Given the description of an element on the screen output the (x, y) to click on. 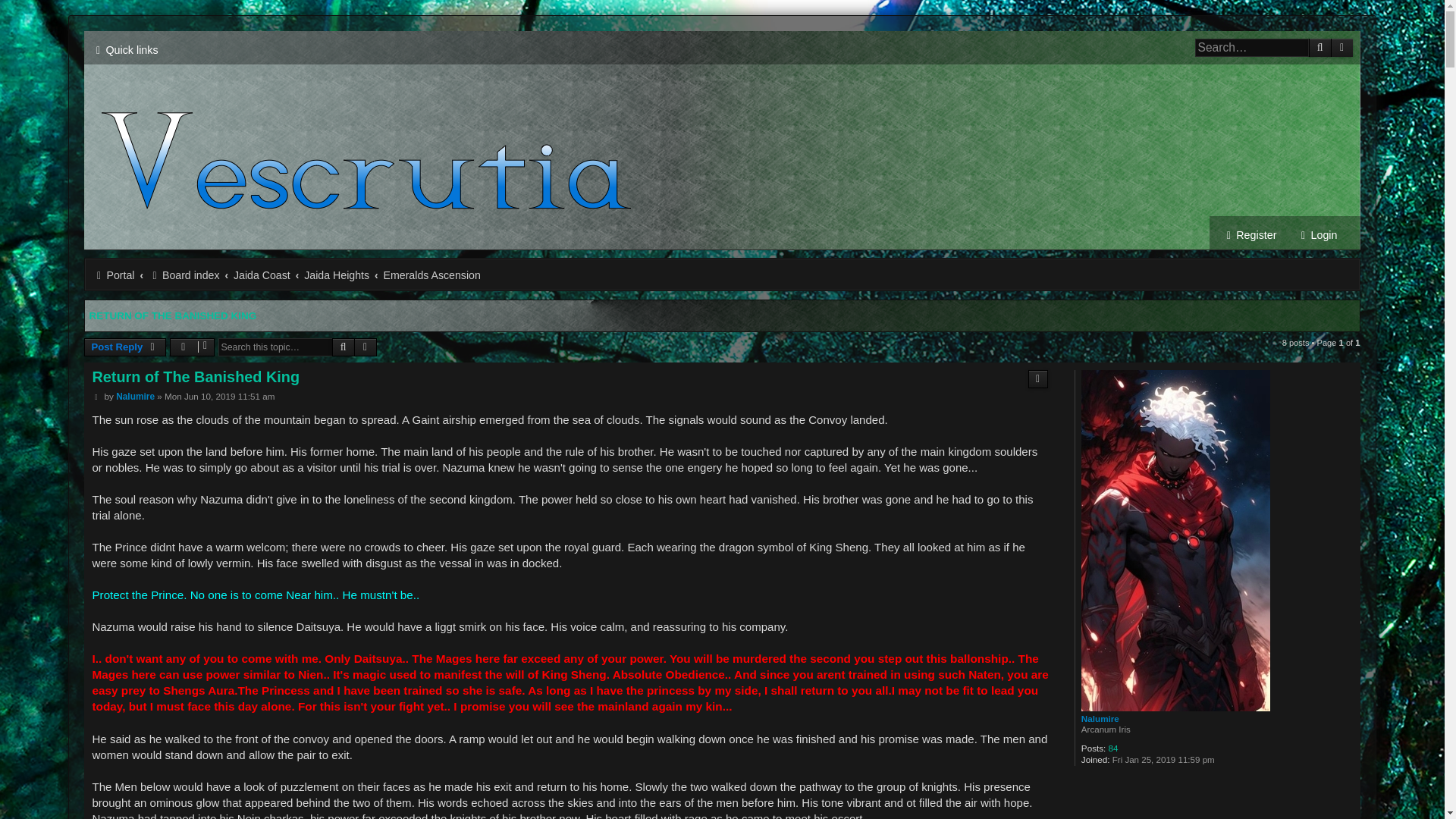
Register (1249, 235)
Advanced search (366, 347)
Jaida Heights (336, 274)
Post a reply (124, 347)
Quick links (124, 50)
Search for keywords (1251, 47)
Board index (183, 274)
84 (1113, 747)
Portal (113, 274)
Board index (183, 274)
Search (1320, 47)
Post (96, 396)
Return of The Banished King (195, 376)
Topic tools (192, 347)
Advanced search (366, 347)
